Given the description of an element on the screen output the (x, y) to click on. 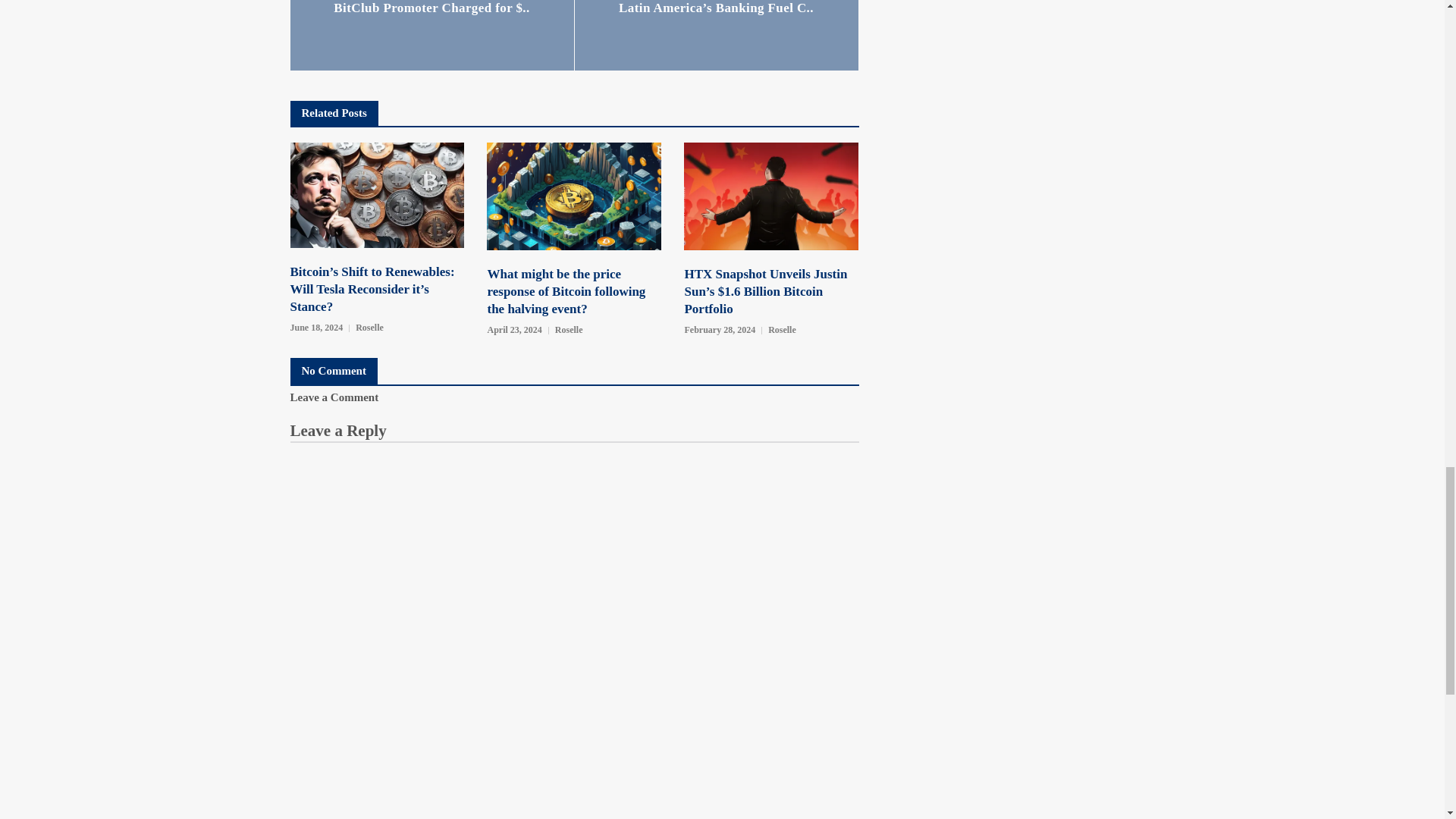
February 28, 2024 2:20 (719, 330)
April 23, 2024 (513, 330)
June 18, 2024 7:06 (315, 327)
Roselle (568, 329)
June 18, 2024 (315, 327)
Posts by Roselle (568, 329)
April 23, 2024 4:35 (513, 330)
Posts by Roselle (369, 327)
